Given the description of an element on the screen output the (x, y) to click on. 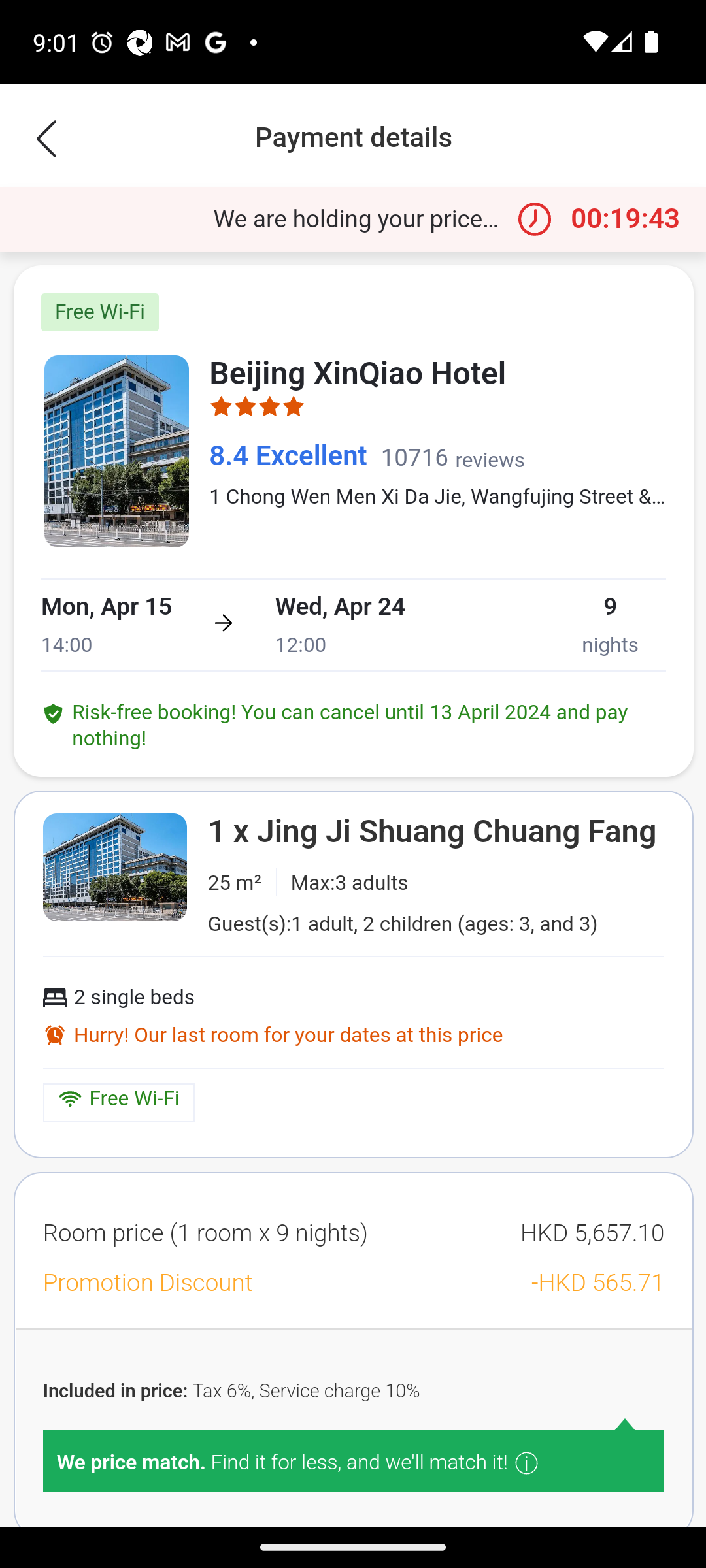
Free Wi-Fi (99, 312)
Hotel (115, 451)
4 stars out of 5 (256, 409)
